Given the description of an element on the screen output the (x, y) to click on. 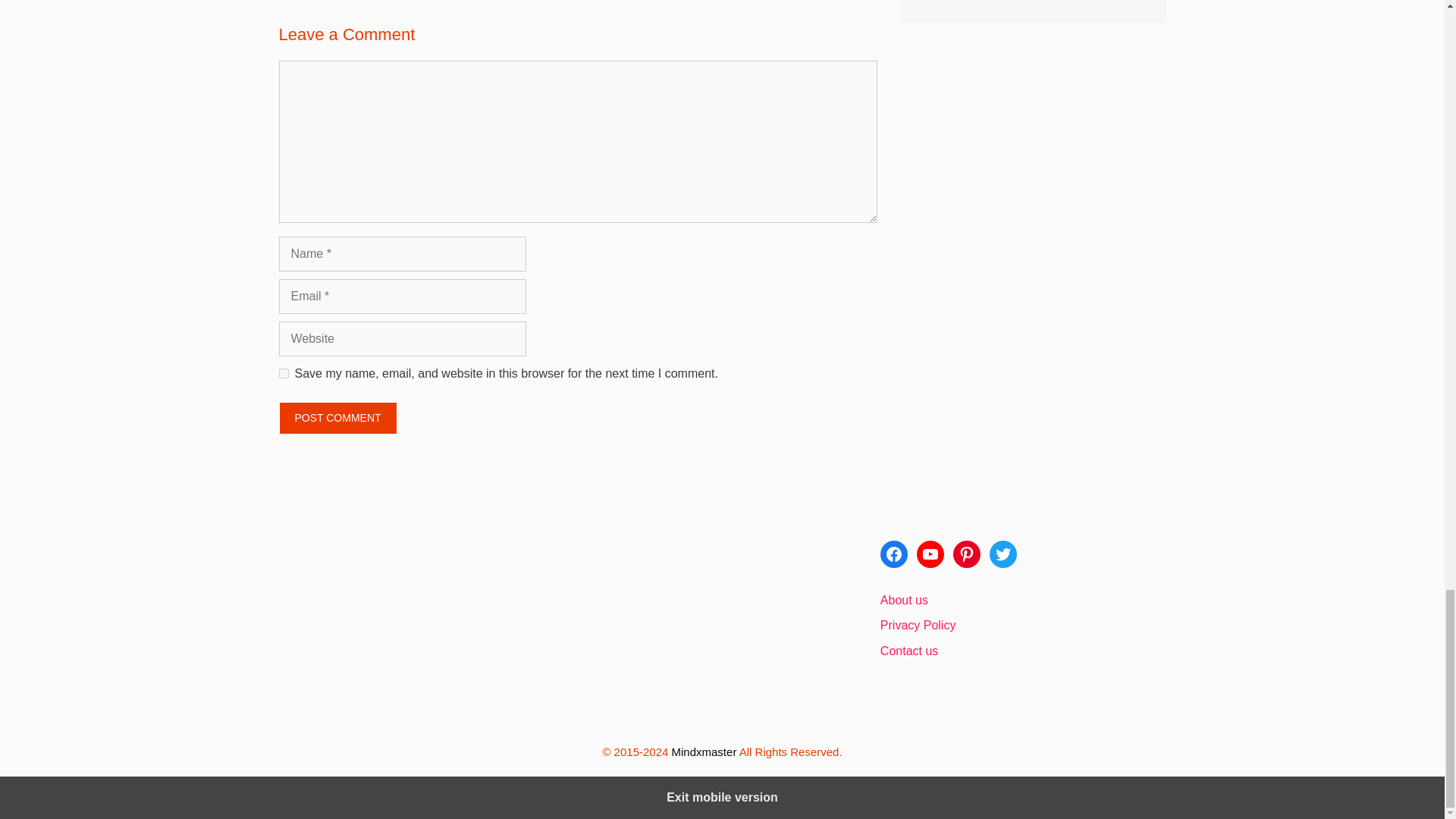
YouTube (930, 554)
Pinterest (966, 554)
About us (904, 599)
Facebook (893, 554)
Mindxmaster (703, 751)
Post Comment (338, 418)
Twitter (1003, 554)
yes (283, 373)
Privacy Policy (918, 625)
Contact us (908, 650)
